Given the description of an element on the screen output the (x, y) to click on. 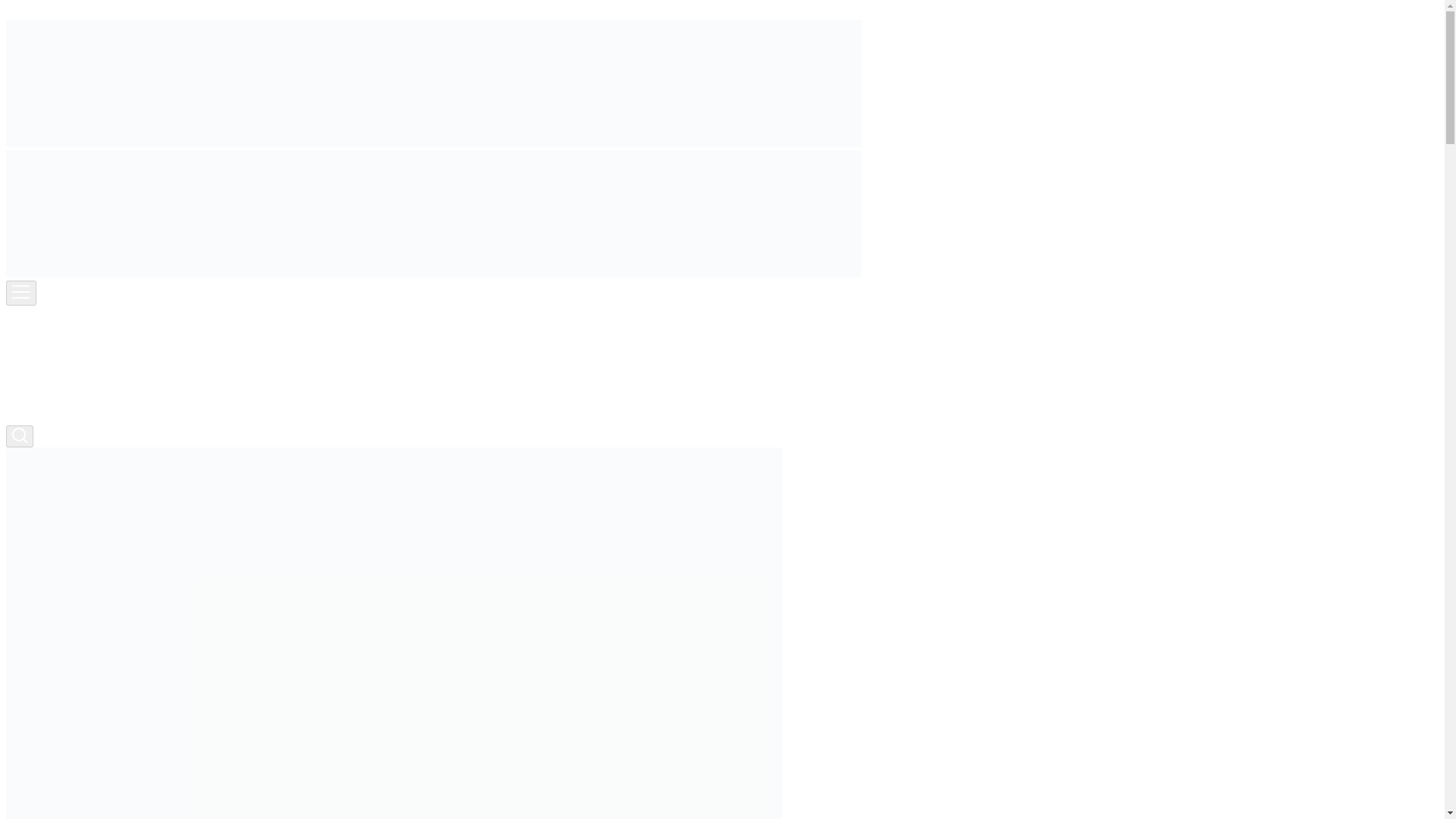
Press Release (69, 391)
World (51, 405)
Skip to the content (51, 11)
Entertainment (70, 350)
National (57, 378)
Business (58, 323)
Education (60, 337)
Lifestyle (58, 364)
